Given the description of an element on the screen output the (x, y) to click on. 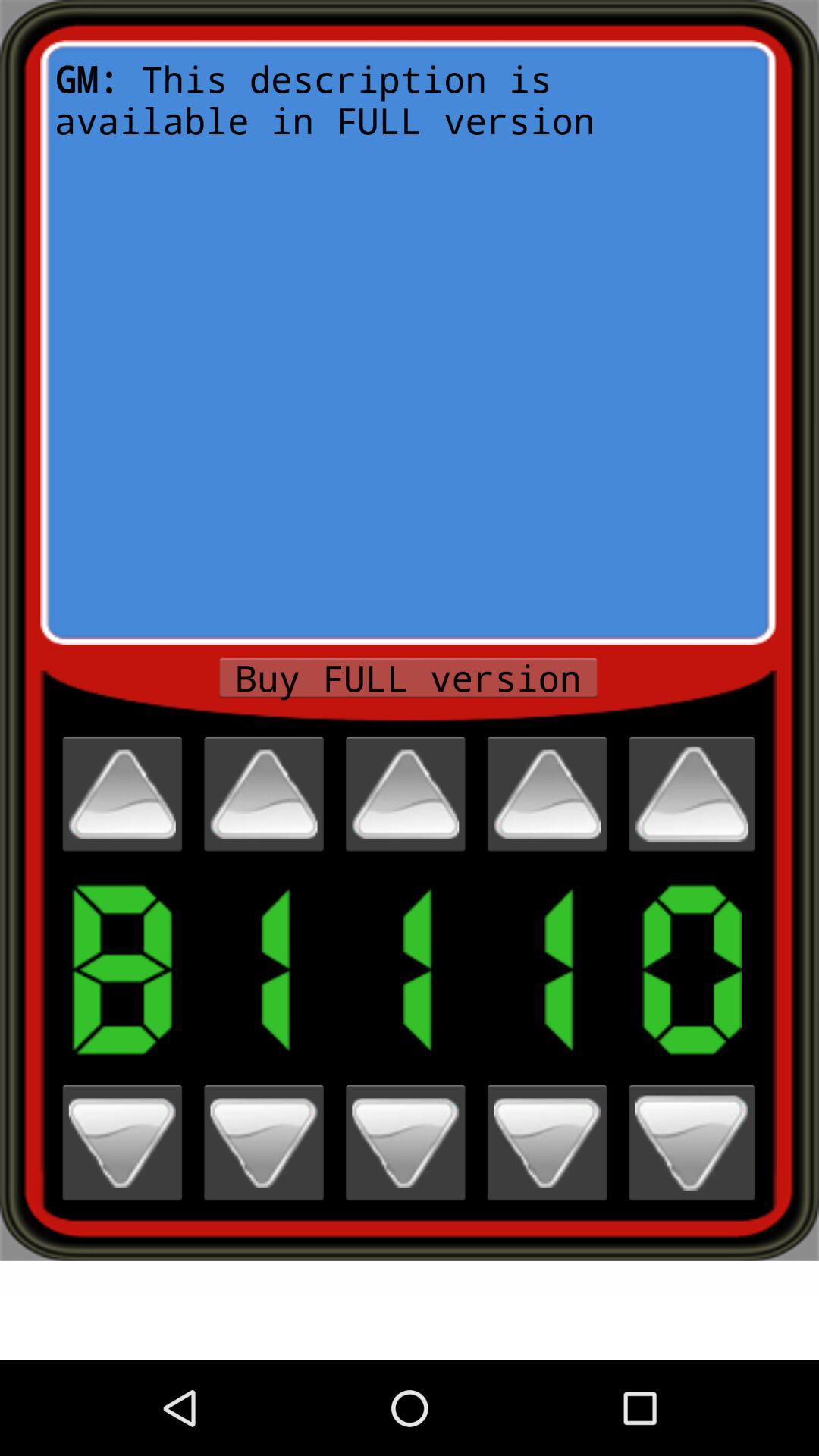
raise number (546, 794)
